Given the description of an element on the screen output the (x, y) to click on. 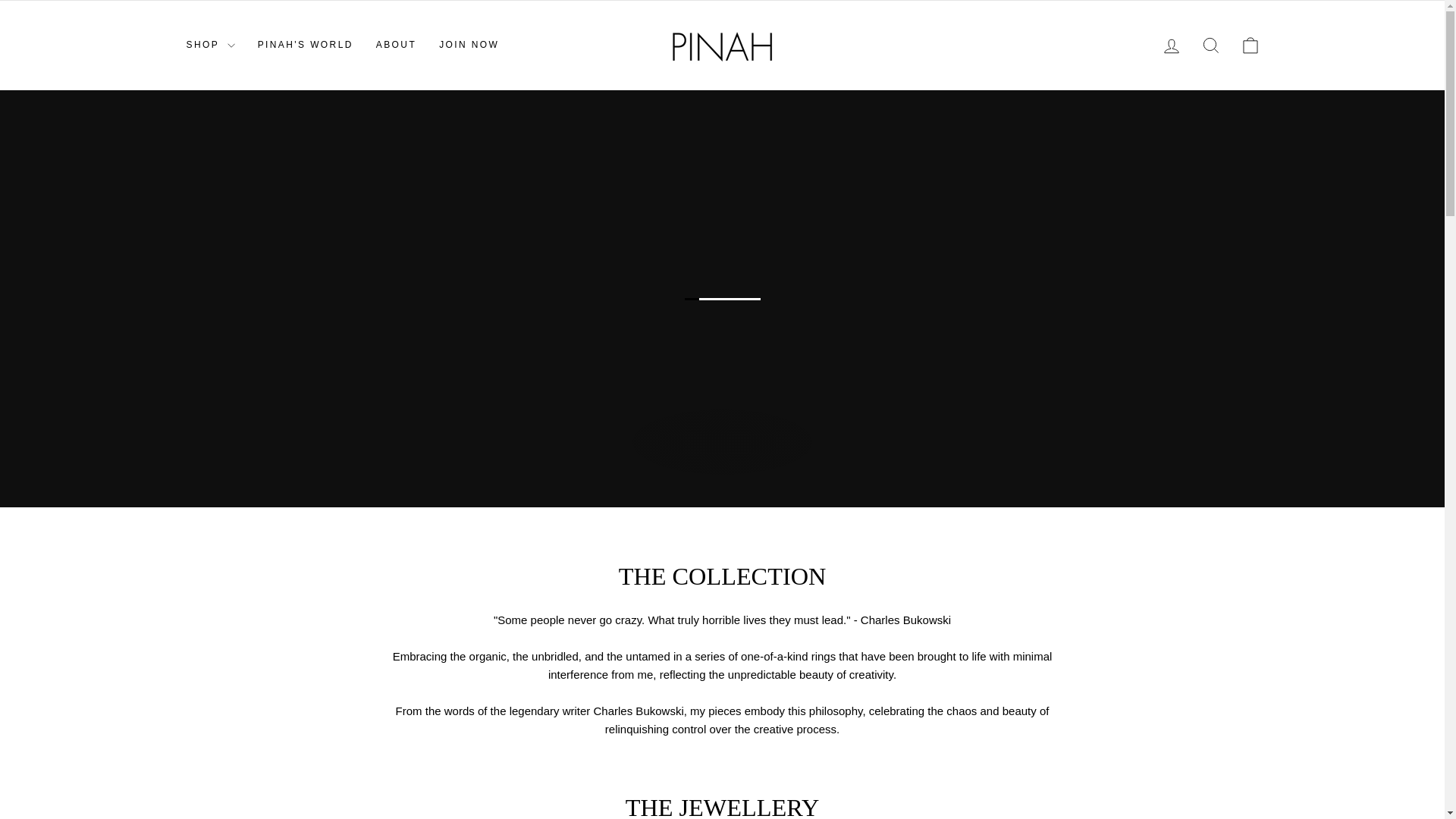
JOIN NOW (469, 45)
ICON-SEARCH (1210, 44)
ICON-BAG-MINIMAL (1210, 45)
PINAH'S WORLD (1249, 45)
ABOUT (1249, 44)
ACCOUNT (305, 45)
